Given the description of an element on the screen output the (x, y) to click on. 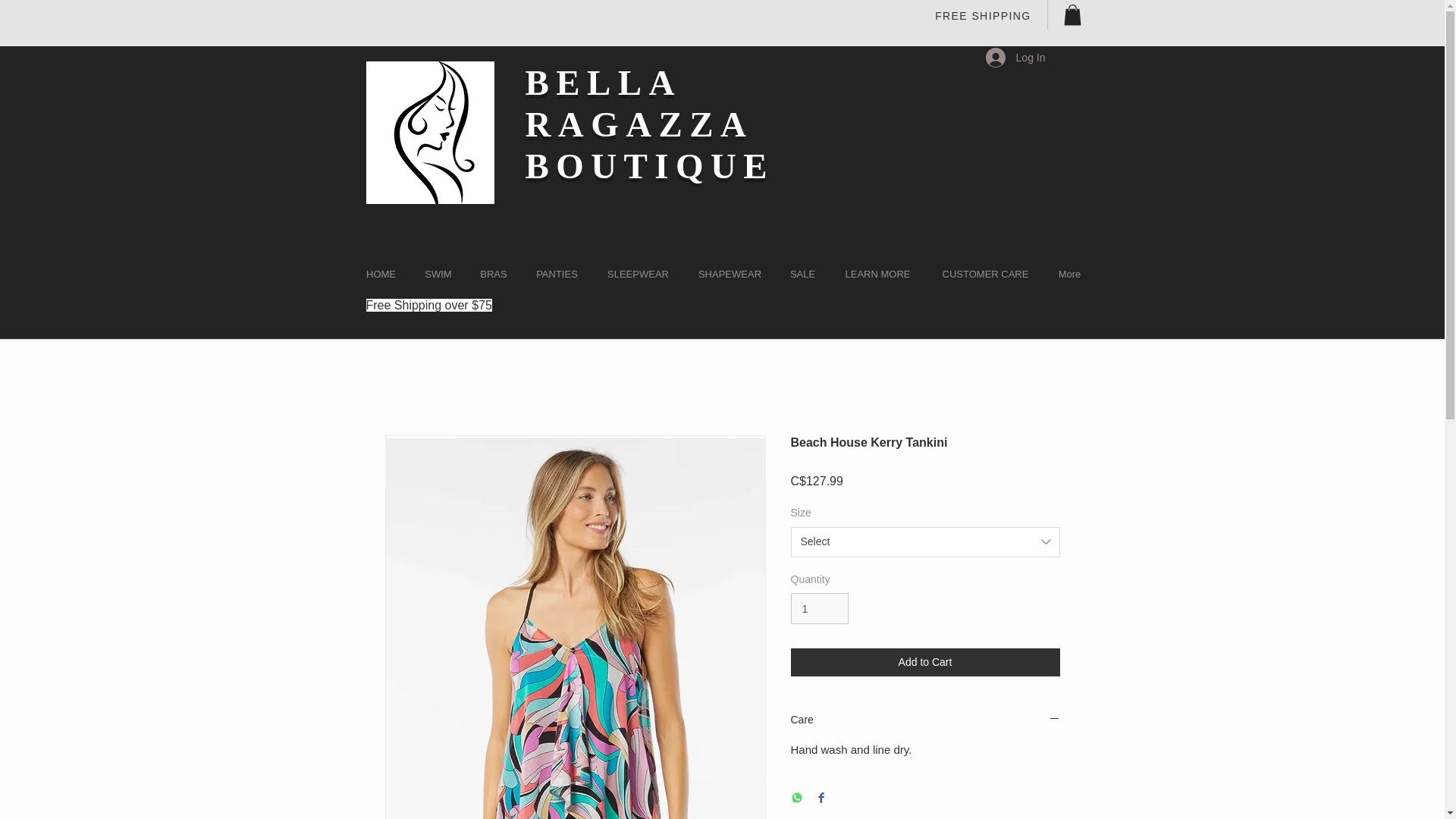
Select (924, 542)
Add to Cart (924, 662)
SLEEPWEAR (638, 273)
PANTIES (556, 273)
HOME (381, 273)
SWIM (437, 273)
Log In (1016, 57)
SALE (802, 273)
CUSTOMER CARE (985, 273)
1 (818, 608)
